Given the description of an element on the screen output the (x, y) to click on. 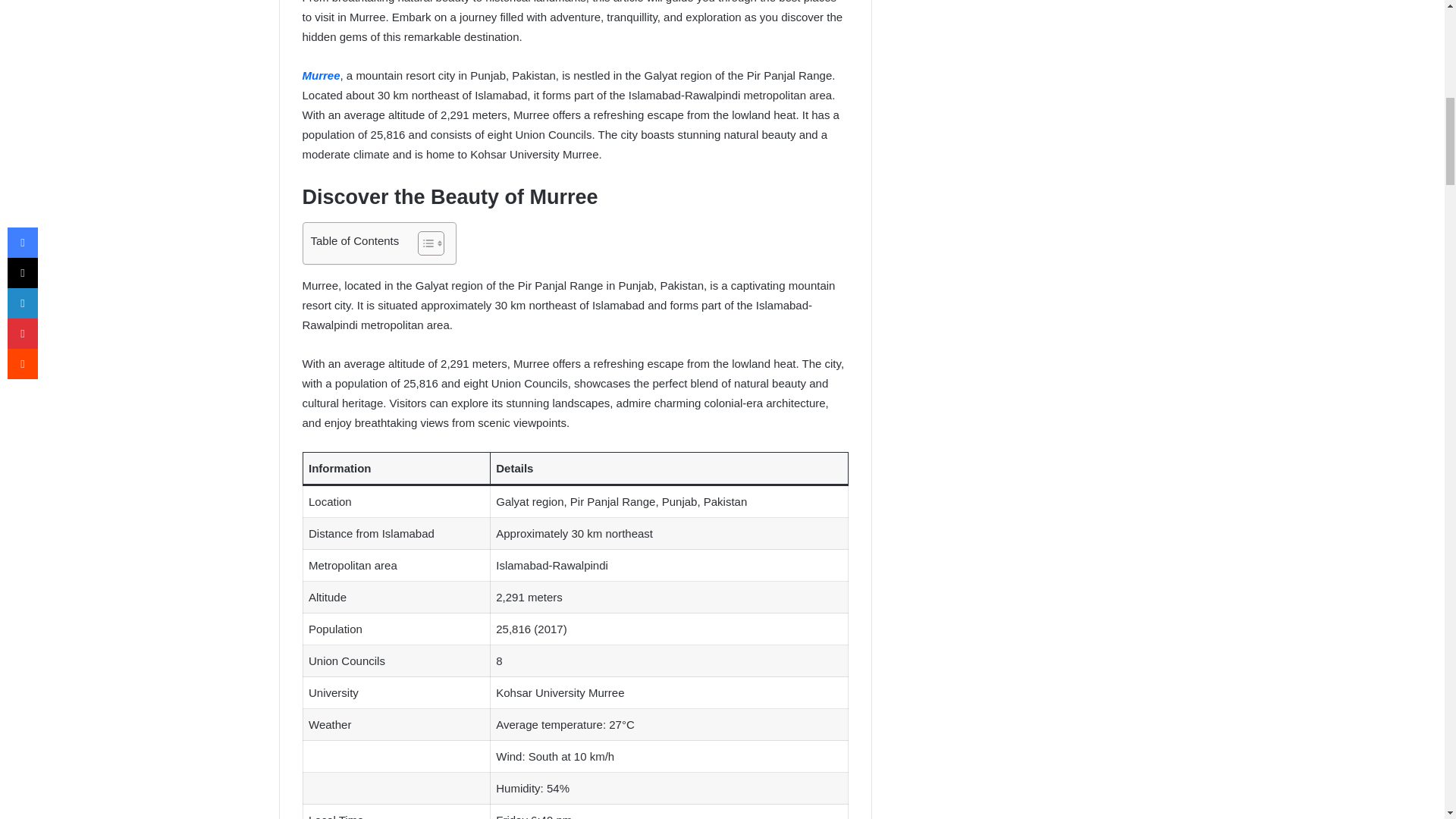
Murree (320, 74)
